Given the description of an element on the screen output the (x, y) to click on. 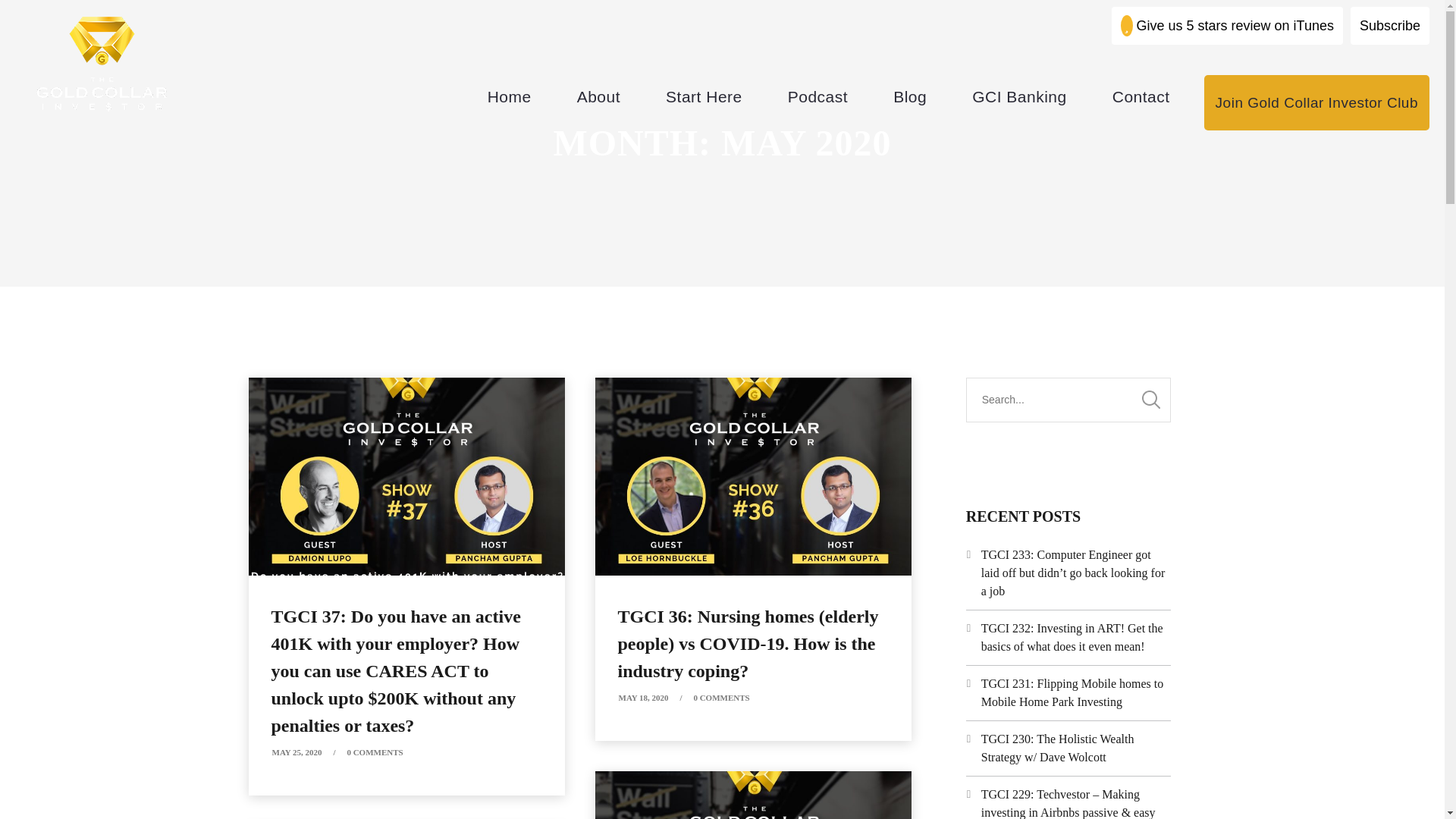
Podcast (817, 96)
GCI Banking (1019, 96)
Give us 5 stars review on iTunes (1227, 25)
Contact (1140, 96)
Subscribe (1390, 25)
MAY 25, 2020 (295, 751)
Home (509, 96)
The Gold Collar Investor (101, 61)
Blog (909, 96)
About (598, 96)
